Given the description of an element on the screen output the (x, y) to click on. 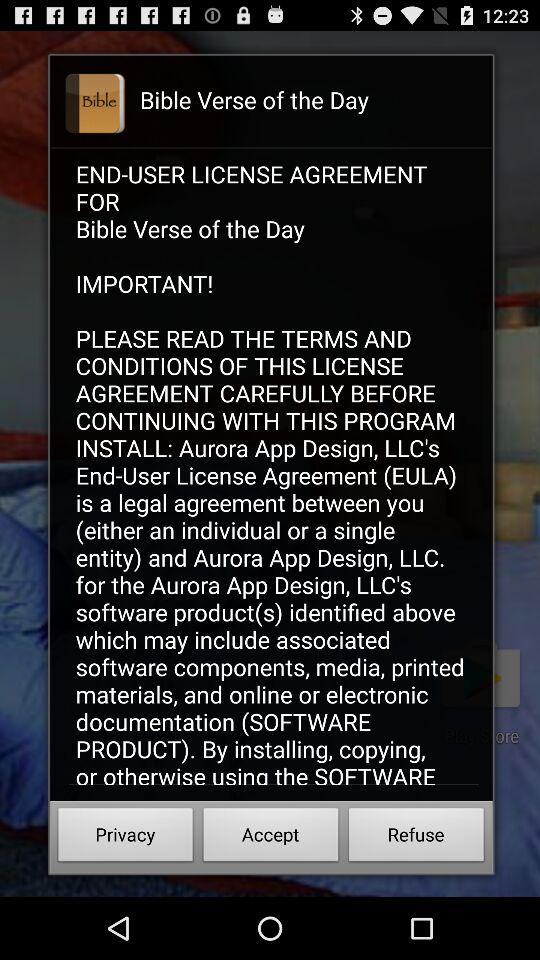
turn off button next to accept (416, 837)
